Given the description of an element on the screen output the (x, y) to click on. 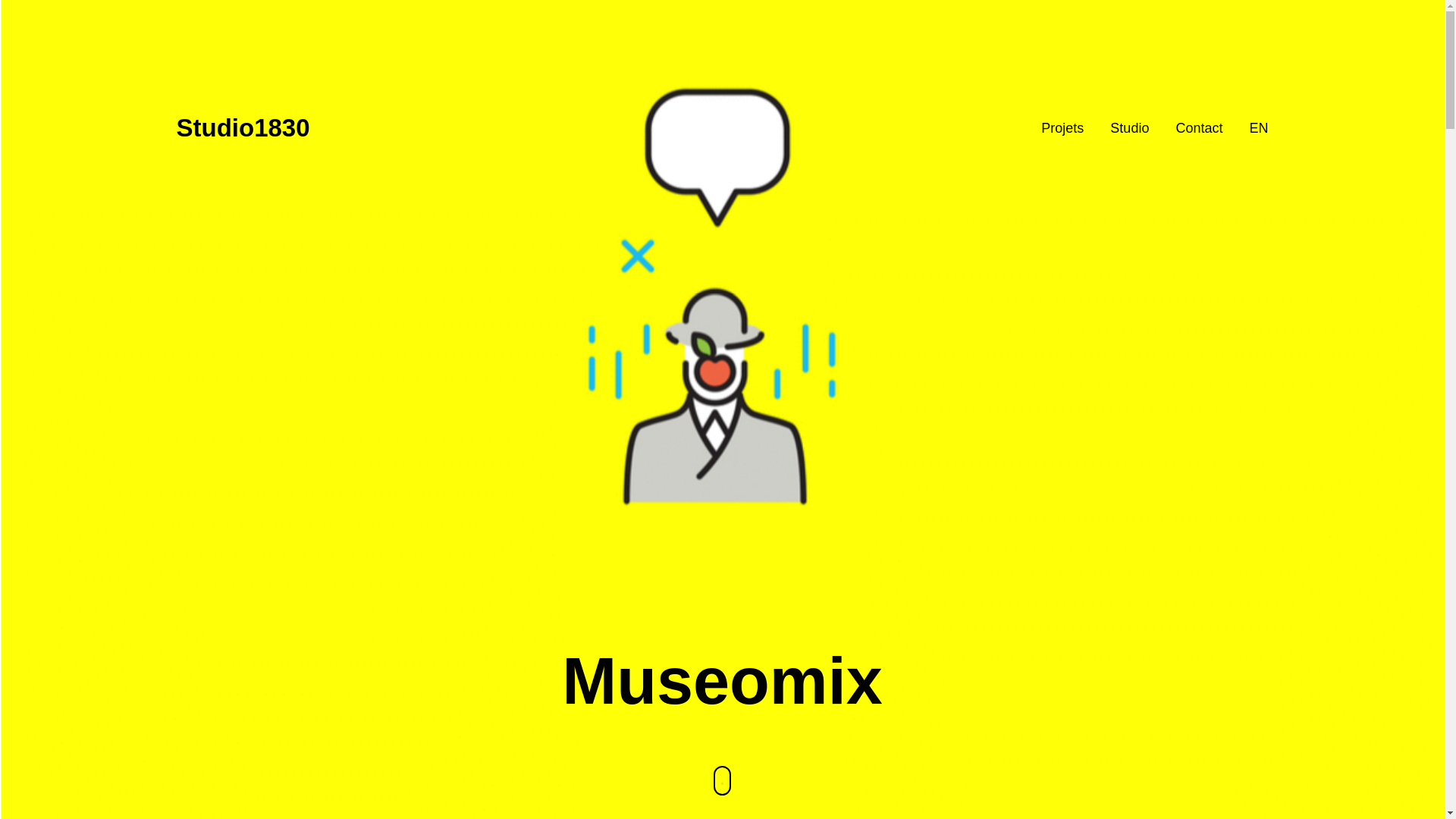
Studio Element type: text (1129, 127)
EN Element type: text (1257, 127)
Projets Element type: text (1062, 127)
Studio1830 Element type: text (242, 127)
Contact Element type: text (1198, 127)
